Given the description of an element on the screen output the (x, y) to click on. 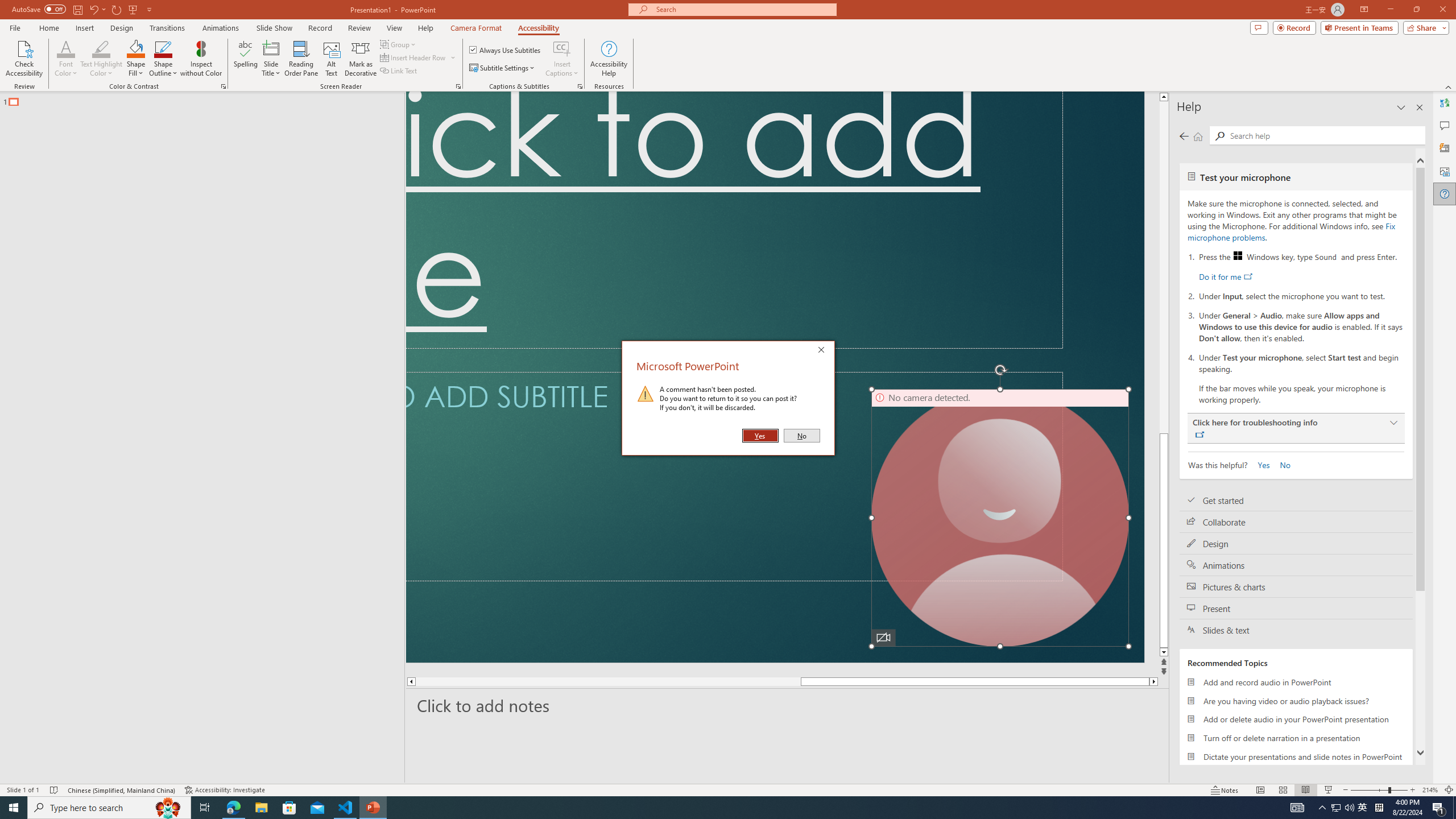
Previous page (1183, 136)
Get started (1295, 500)
Click here for troubleshooting info (1296, 428)
